Given the description of an element on the screen output the (x, y) to click on. 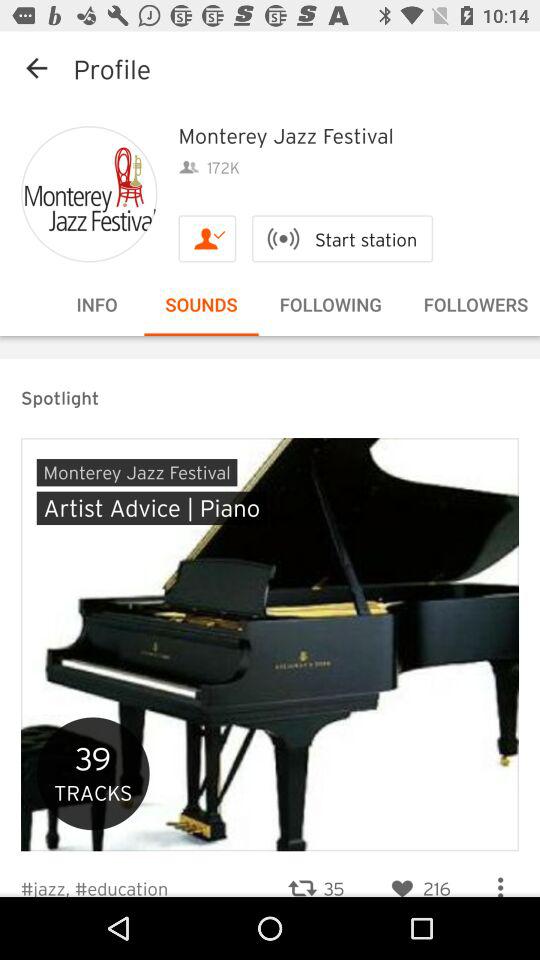
make image bigger (89, 194)
